Given the description of an element on the screen output the (x, y) to click on. 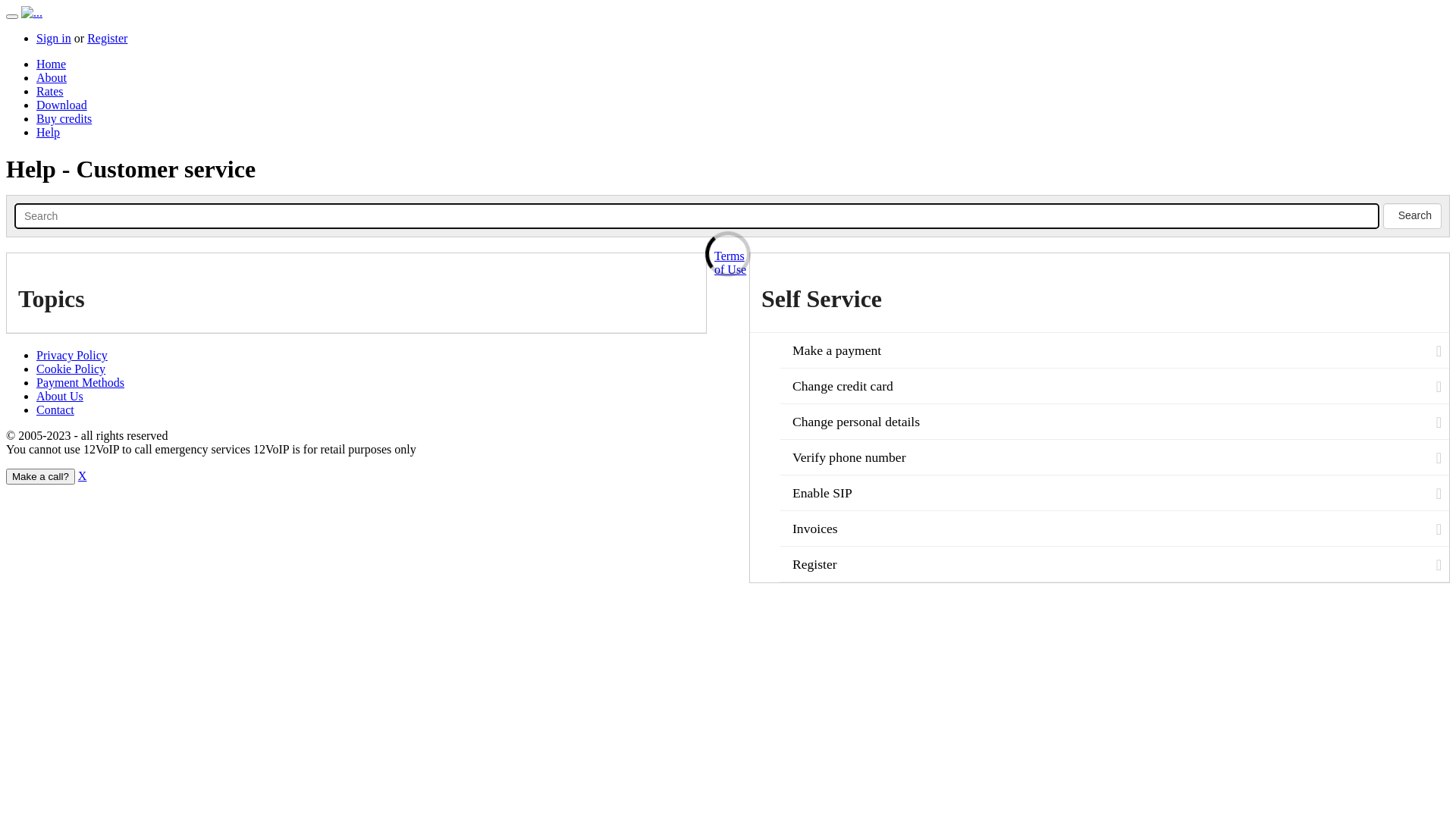
Privacy Policy Element type: text (71, 354)
Contact Element type: text (55, 409)
Cookie Policy Element type: text (70, 368)
Help Element type: text (47, 131)
Terms of Use Element type: text (730, 262)
About Us Element type: text (59, 395)
Download Element type: text (61, 104)
Search Element type: hover (696, 216)
Buy credits Element type: text (63, 118)
Make a call? Element type: text (40, 476)
Home Element type: text (50, 63)
Rates Element type: text (49, 90)
Toggle navigation Element type: text (12, 16)
Sign in Element type: text (53, 37)
X Element type: text (82, 475)
About Element type: text (51, 77)
Payment Methods Element type: text (80, 382)
Search Element type: text (1412, 216)
Register Element type: text (107, 37)
